Given the description of an element on the screen output the (x, y) to click on. 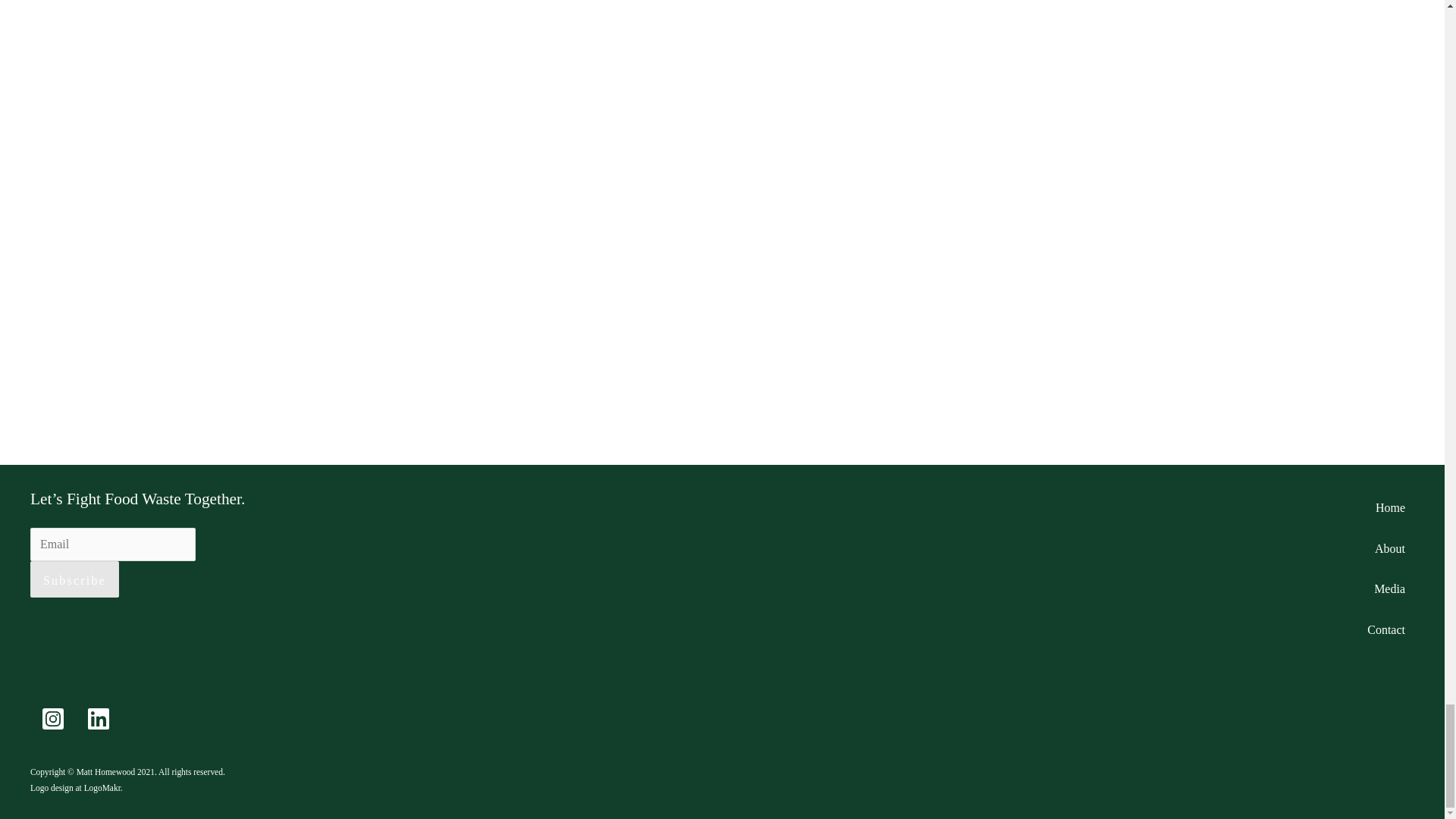
Media (1389, 588)
Subscribe (74, 579)
Home (1390, 507)
Contact (1385, 629)
About (1389, 548)
